Given the description of an element on the screen output the (x, y) to click on. 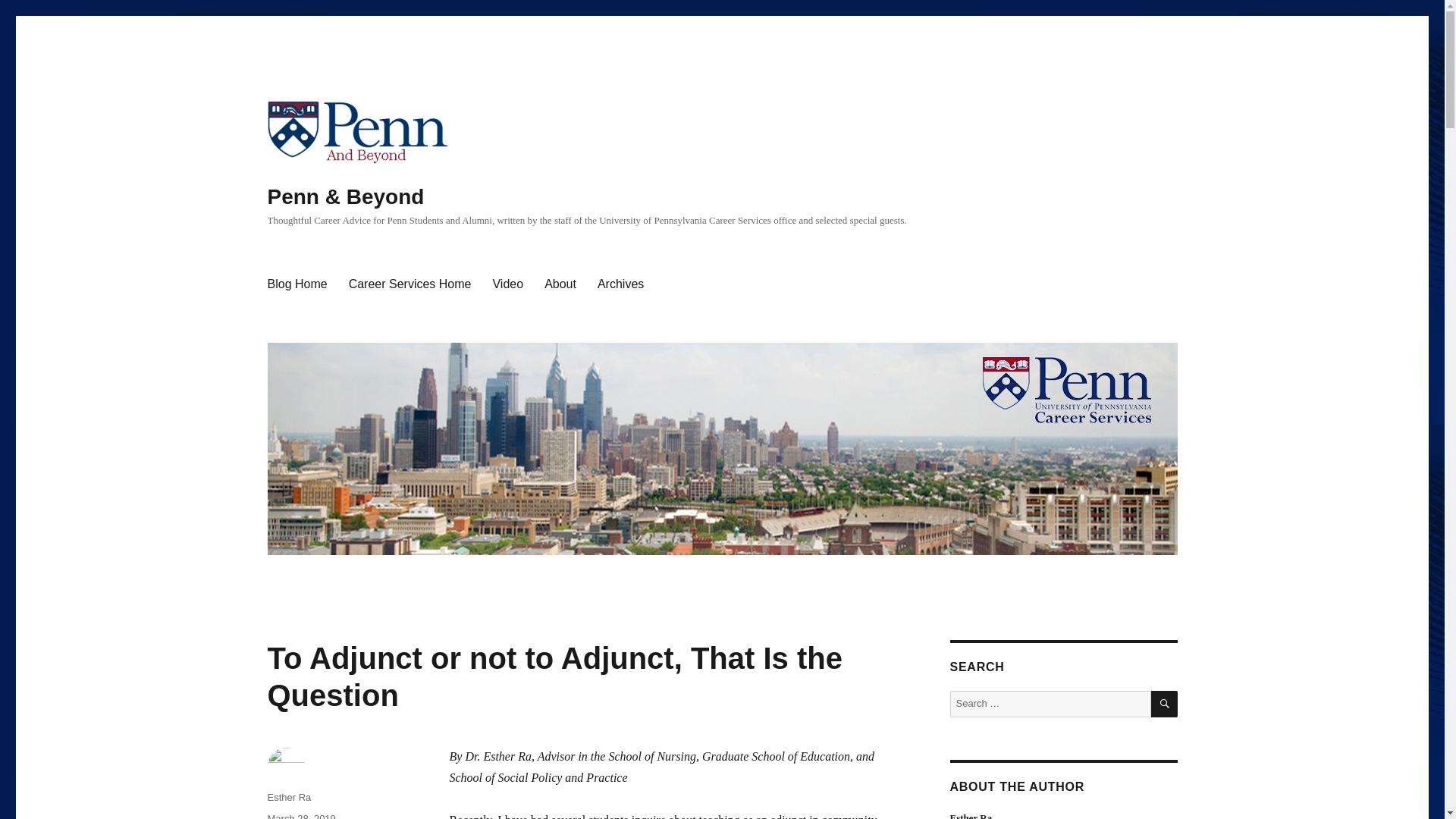
Blog Home (296, 284)
Esther Ra (288, 797)
Archives (619, 284)
Video (507, 284)
About (560, 284)
March 28, 2019 (300, 816)
Career Services Home (409, 284)
